Given the description of an element on the screen output the (x, y) to click on. 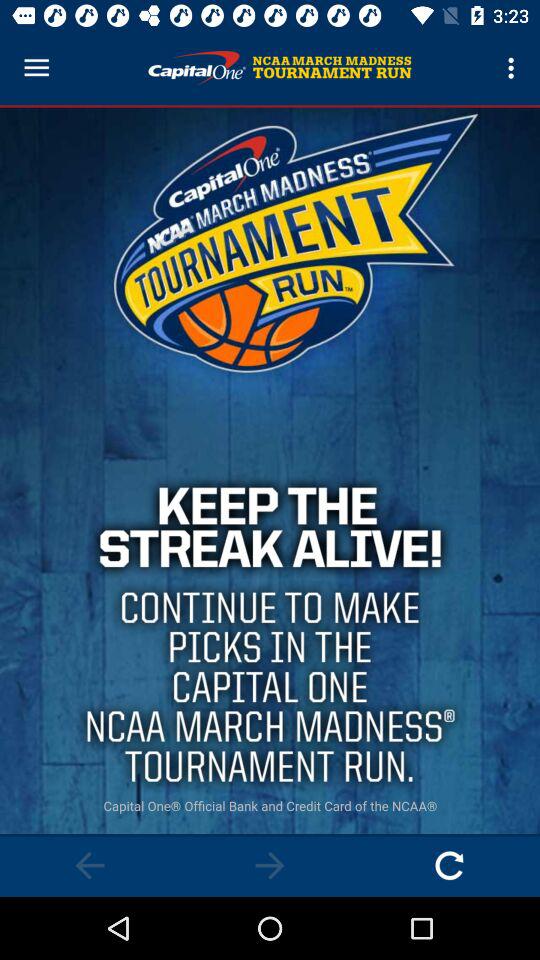
go to advertisement (449, 865)
